Given the description of an element on the screen output the (x, y) to click on. 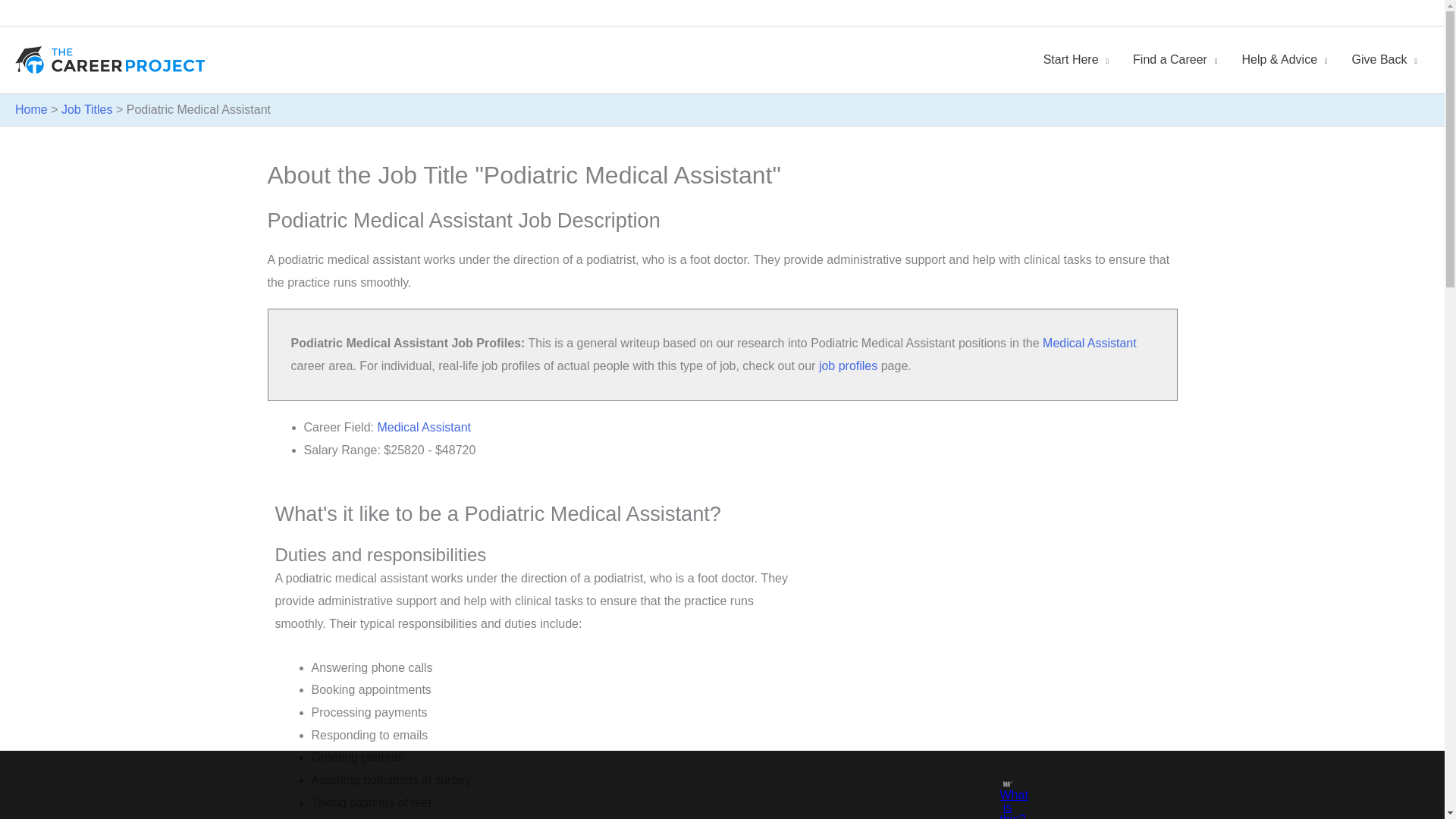
Go to The Career Project. (31, 109)
Blog (1370, 12)
Go to Job Titles. (87, 109)
Contact (1409, 12)
Find a Career (1174, 60)
Home (1289, 12)
Start Here (1075, 60)
3rd party ad content (708, 785)
About (1331, 12)
